Given the description of an element on the screen output the (x, y) to click on. 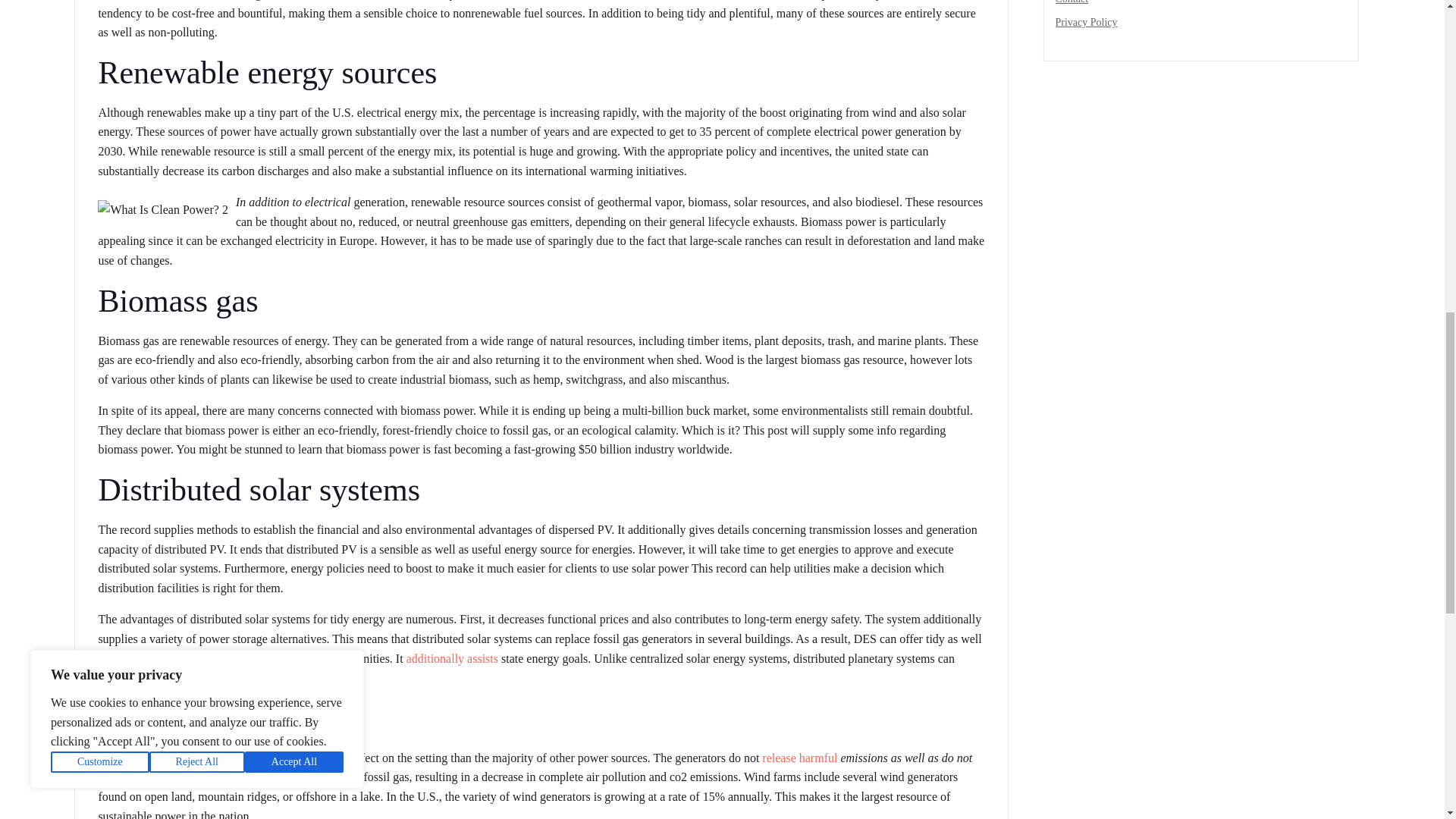
additionally assists (451, 658)
release harmful (799, 757)
